Given the description of an element on the screen output the (x, y) to click on. 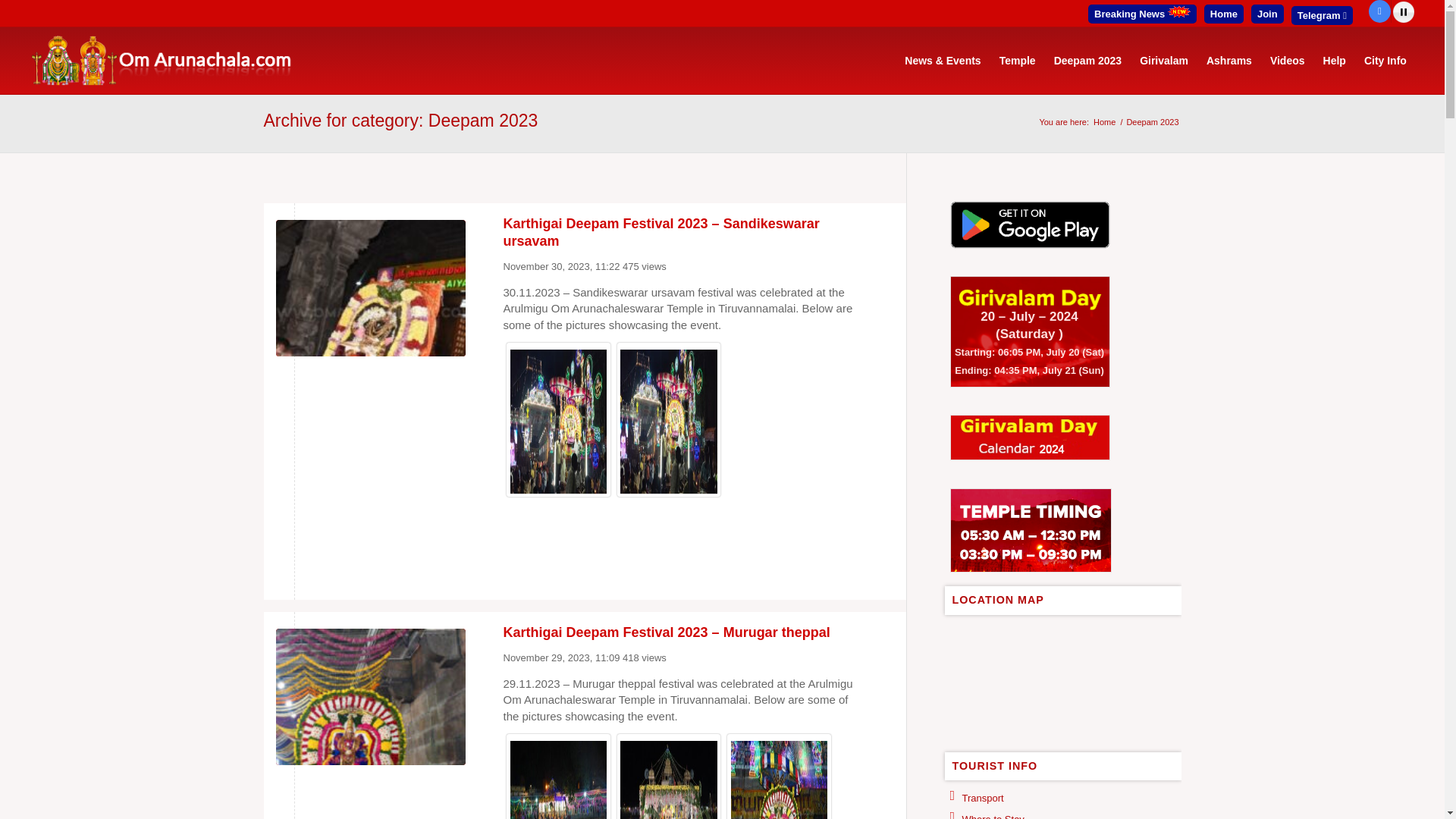
Archive for category: Deepam 2023 (400, 120)
Ashrams (1228, 60)
Breaking News (1141, 13)
Home (1223, 13)
Girivalam (1163, 60)
Deepam 2023 (1088, 60)
Home (1104, 122)
omarunachala (1104, 122)
Facebook (1379, 11)
Telegram (1321, 15)
City Info (1385, 60)
Join (1267, 13)
Permanent Link: Archive for category: Deepam 2023 (400, 120)
